Given the description of an element on the screen output the (x, y) to click on. 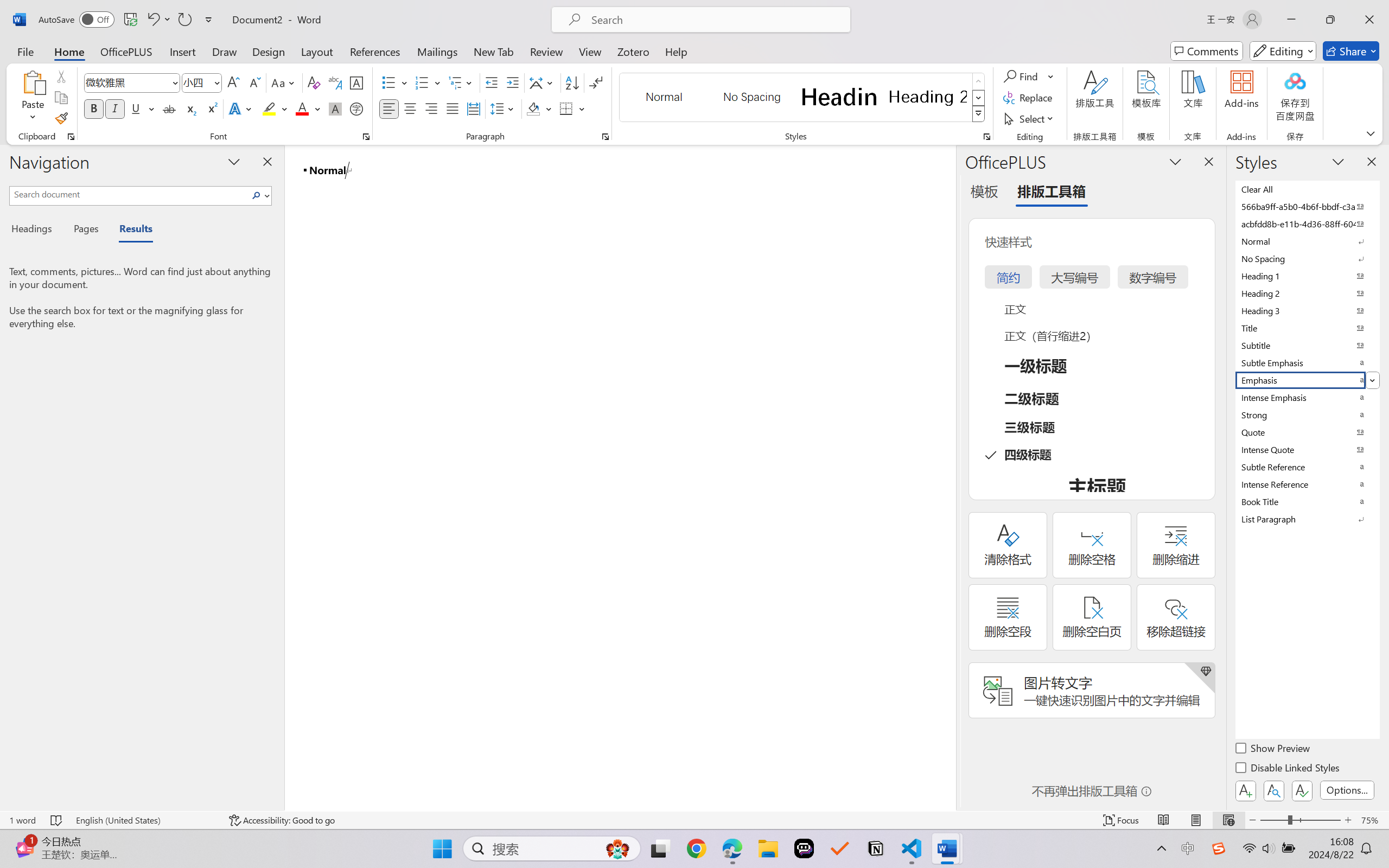
Styles... (986, 136)
Zotero (632, 51)
Office Clipboard... (70, 136)
Numbering (421, 82)
acbfdd8b-e11b-4d36-88ff-6049b138f862 (1306, 223)
Copy (60, 97)
Justify (452, 108)
Center (409, 108)
Subtle Emphasis (1306, 362)
Comments (1206, 50)
Intense Reference (1306, 484)
Zoom In (1348, 819)
